Given the description of an element on the screen output the (x, y) to click on. 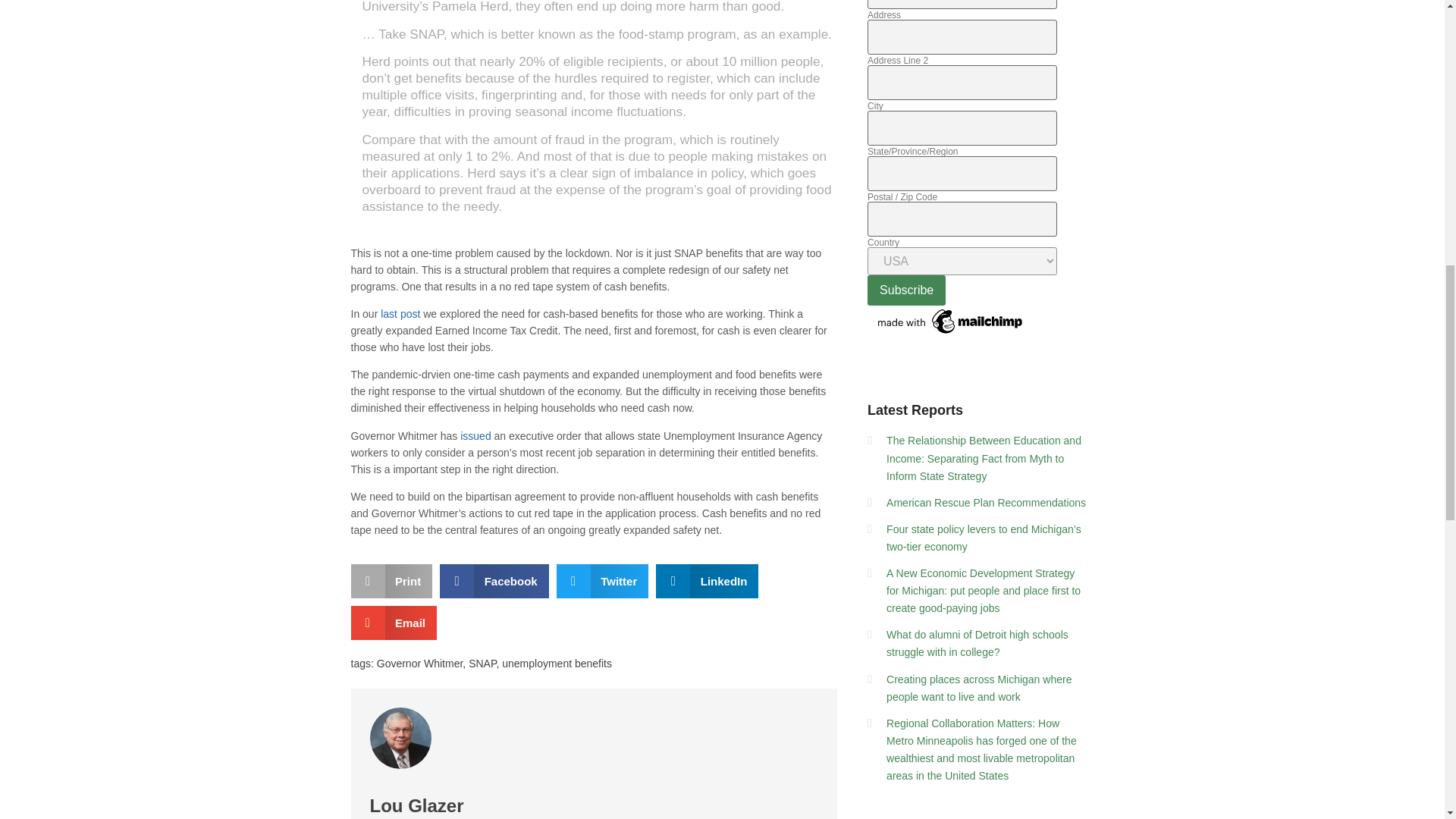
unemployment benefits (556, 663)
Subscribe (905, 290)
Mailchimp - email marketing made easy and fun (950, 334)
SNAP (482, 663)
issued (475, 435)
last post (398, 313)
Governor Whitmer (420, 663)
